Given the description of an element on the screen output the (x, y) to click on. 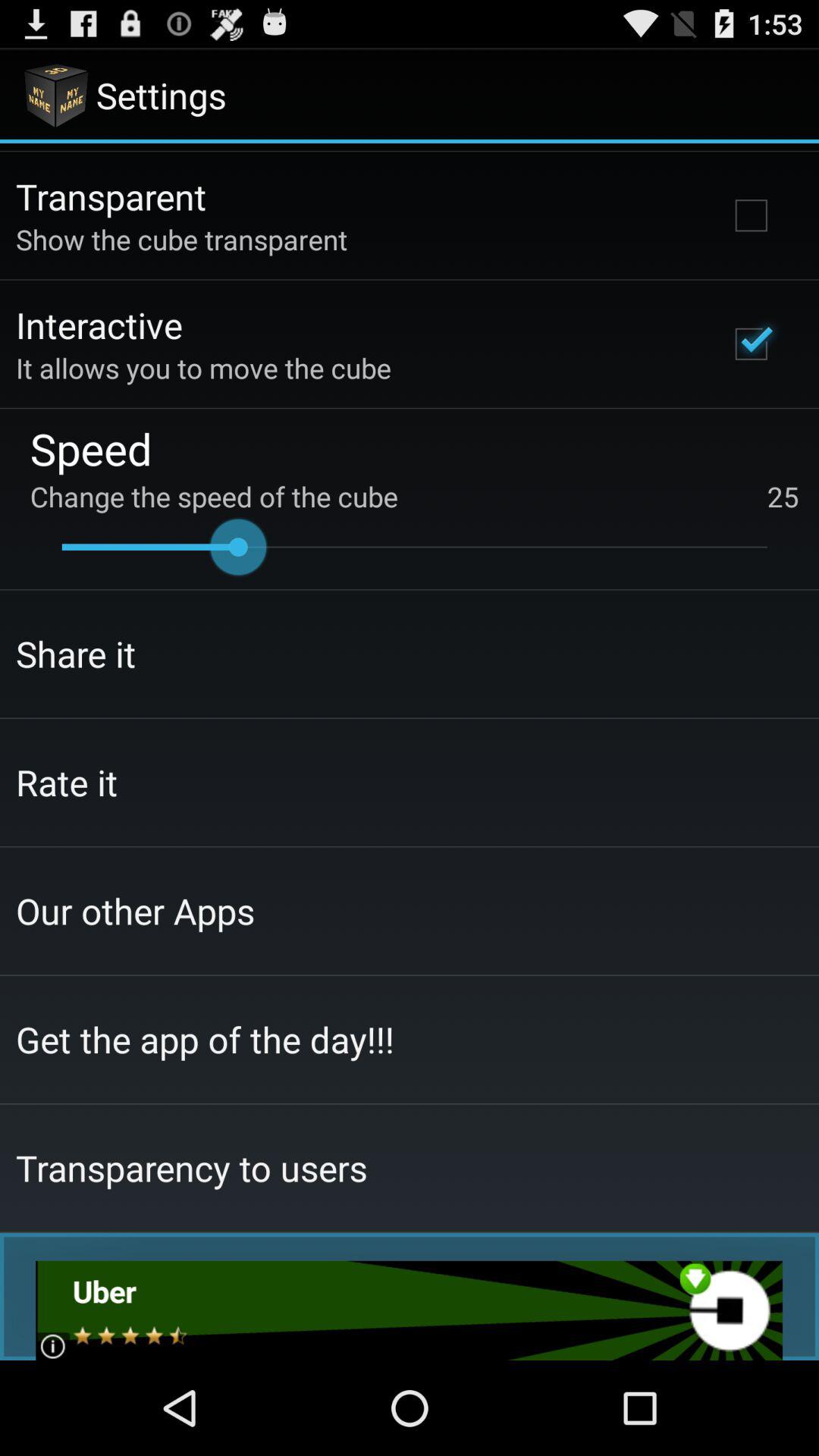
click the share it item (75, 653)
